Given the description of an element on the screen output the (x, y) to click on. 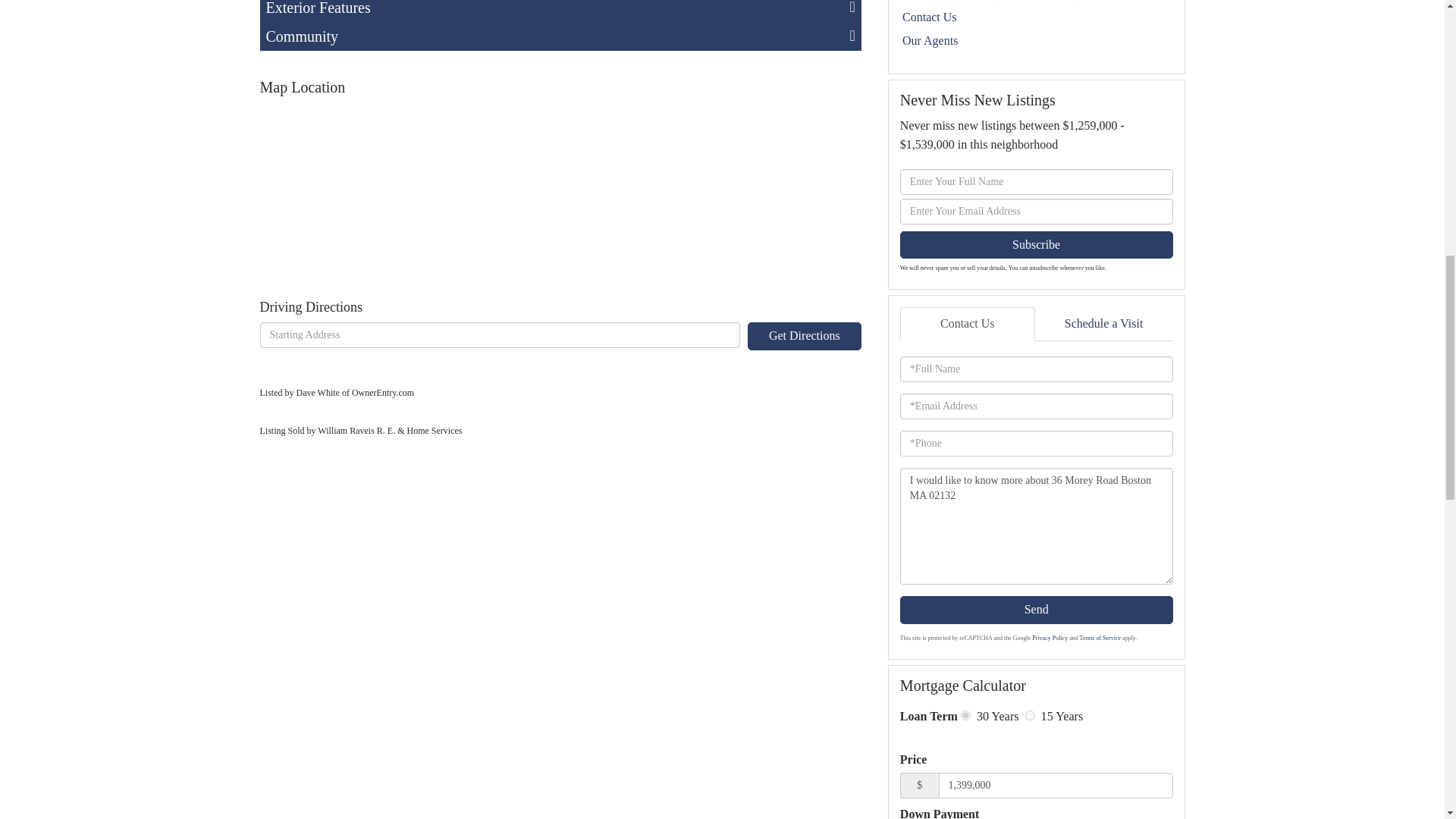
30 (965, 715)
Inquire (1038, 17)
15 (1030, 715)
1,399,000 (1056, 785)
